Given the description of an element on the screen output the (x, y) to click on. 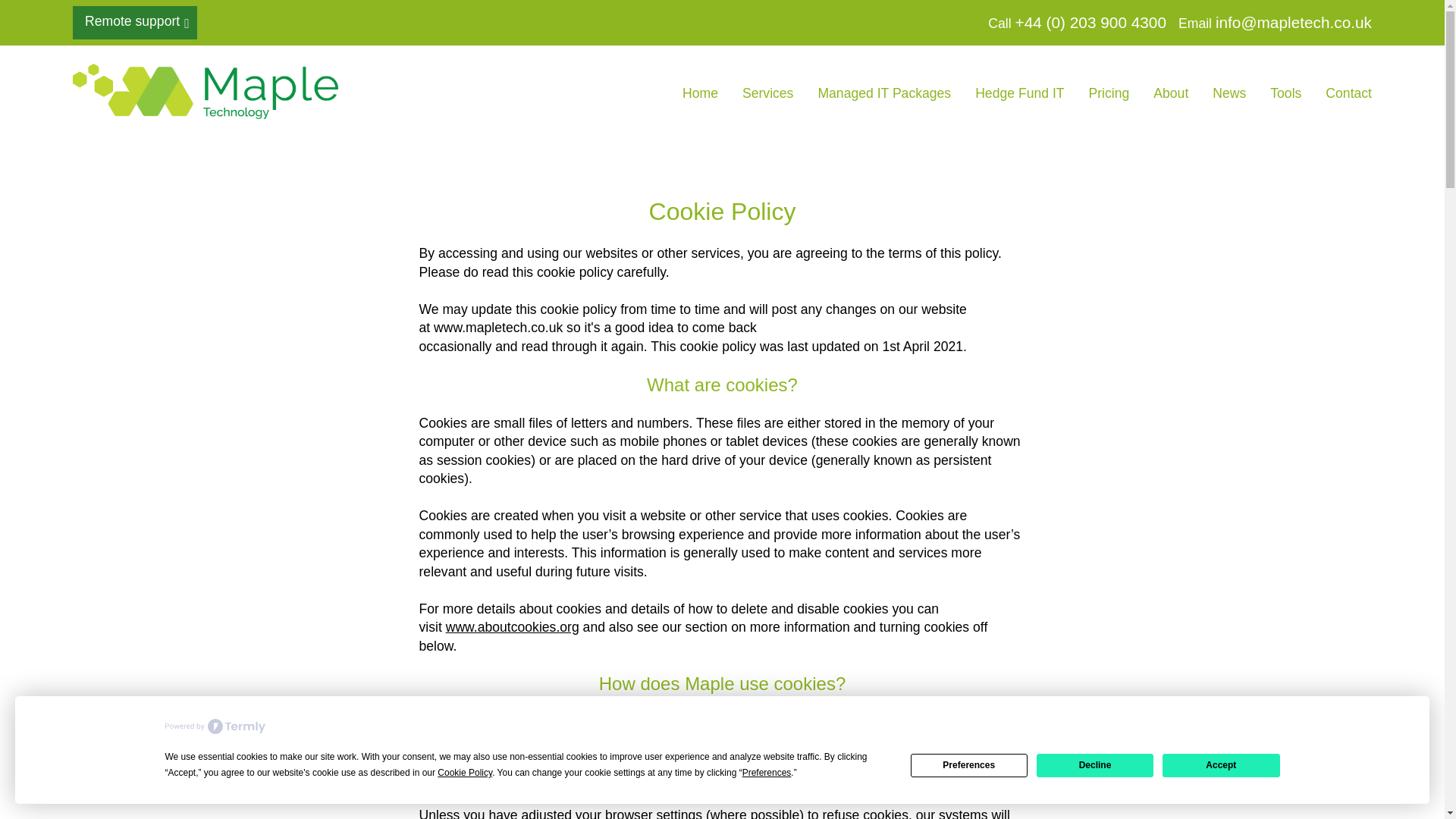
Remote support (134, 22)
Accept (1220, 765)
Contact (1347, 92)
Home (699, 92)
About (1170, 92)
Pricing (1109, 92)
Hedge Fund IT (1019, 92)
News (1229, 92)
Preferences (969, 765)
Managed IT Packages (883, 92)
